Given the description of an element on the screen output the (x, y) to click on. 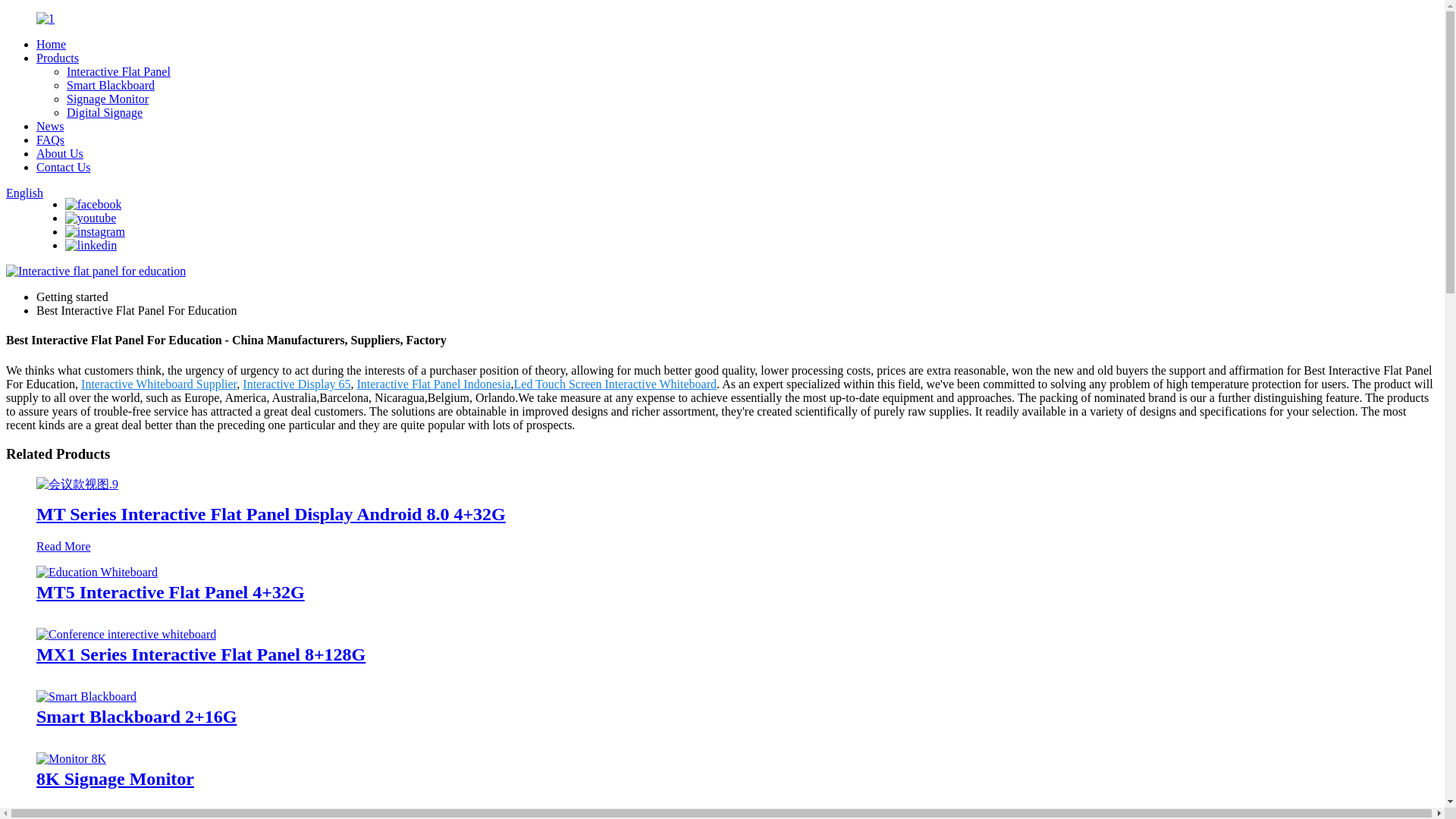
8K Signage Monitor  (71, 758)
FAQs (50, 139)
Products (57, 57)
About Us (59, 153)
News (50, 125)
Home (50, 43)
Interactive Flat Panel Indonesia (433, 383)
Best Interactive Flat Panel For Education (135, 309)
Interactive Flat Panel Indonesia (433, 383)
Interactive Whiteboard Supplier (158, 383)
Interactive Display 65 (296, 383)
Digital Signage (104, 112)
Signage Monitor (107, 98)
Led Touch Screen Interactive Whiteboard (615, 383)
English (24, 192)
